Given the description of an element on the screen output the (x, y) to click on. 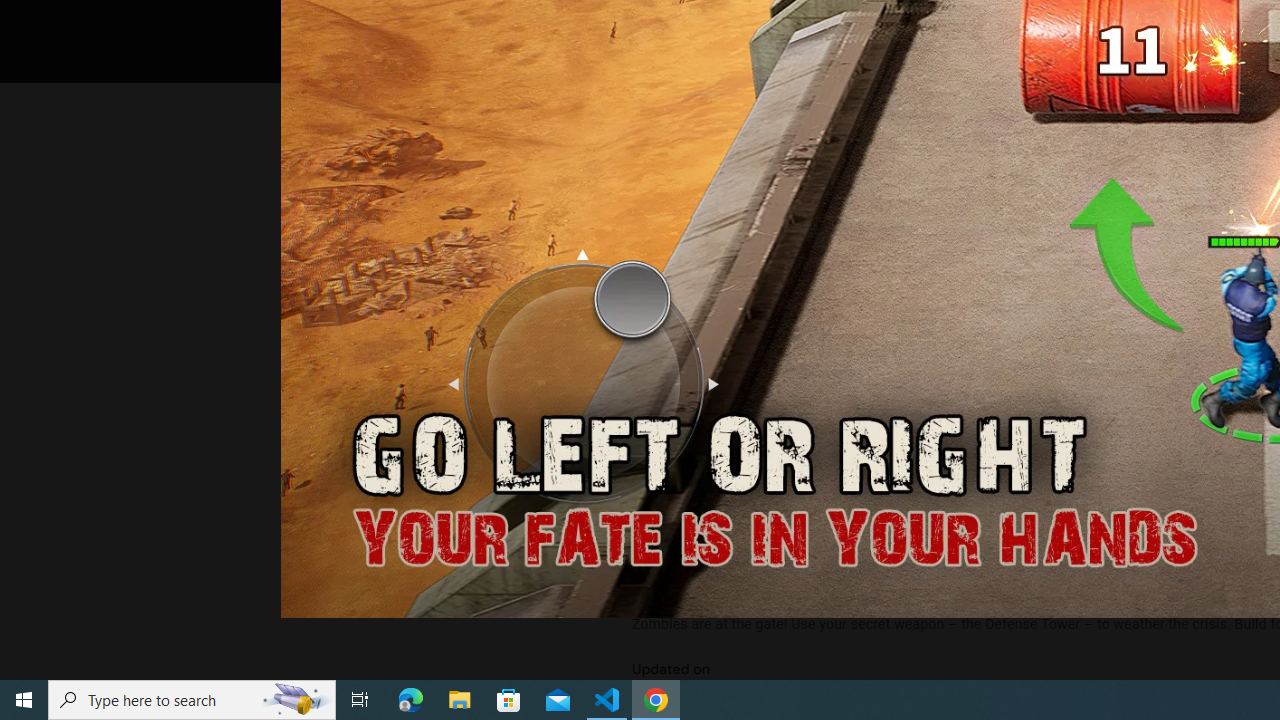
See more information on About this game (830, 477)
Install (732, 24)
Add to wishlist (1014, 24)
Screenshot image (895, 271)
Share (890, 24)
